Given the description of an element on the screen output the (x, y) to click on. 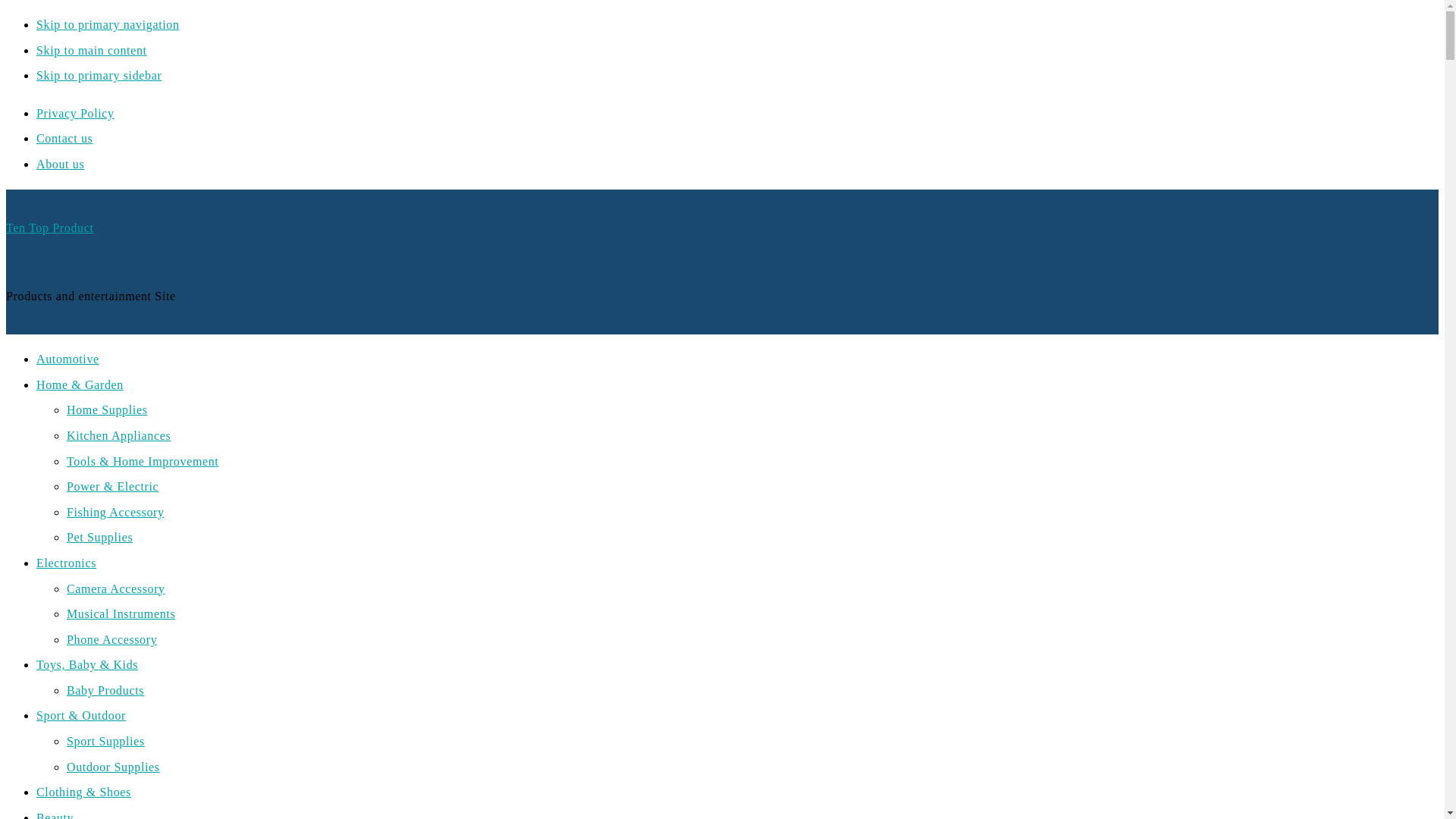
About us (60, 164)
Skip to primary navigation (107, 24)
Contact us (64, 137)
Home Supplies (107, 409)
Skip to primary sidebar (98, 74)
Pet Supplies (99, 536)
Privacy Policy (75, 113)
Baby Products (105, 689)
Camera Accessory (115, 588)
Automotive (67, 358)
Phone Accessory (111, 639)
Sport Supplies (105, 740)
Electronics (66, 562)
Kitchen Appliances (118, 435)
Beauty (55, 815)
